Given the description of an element on the screen output the (x, y) to click on. 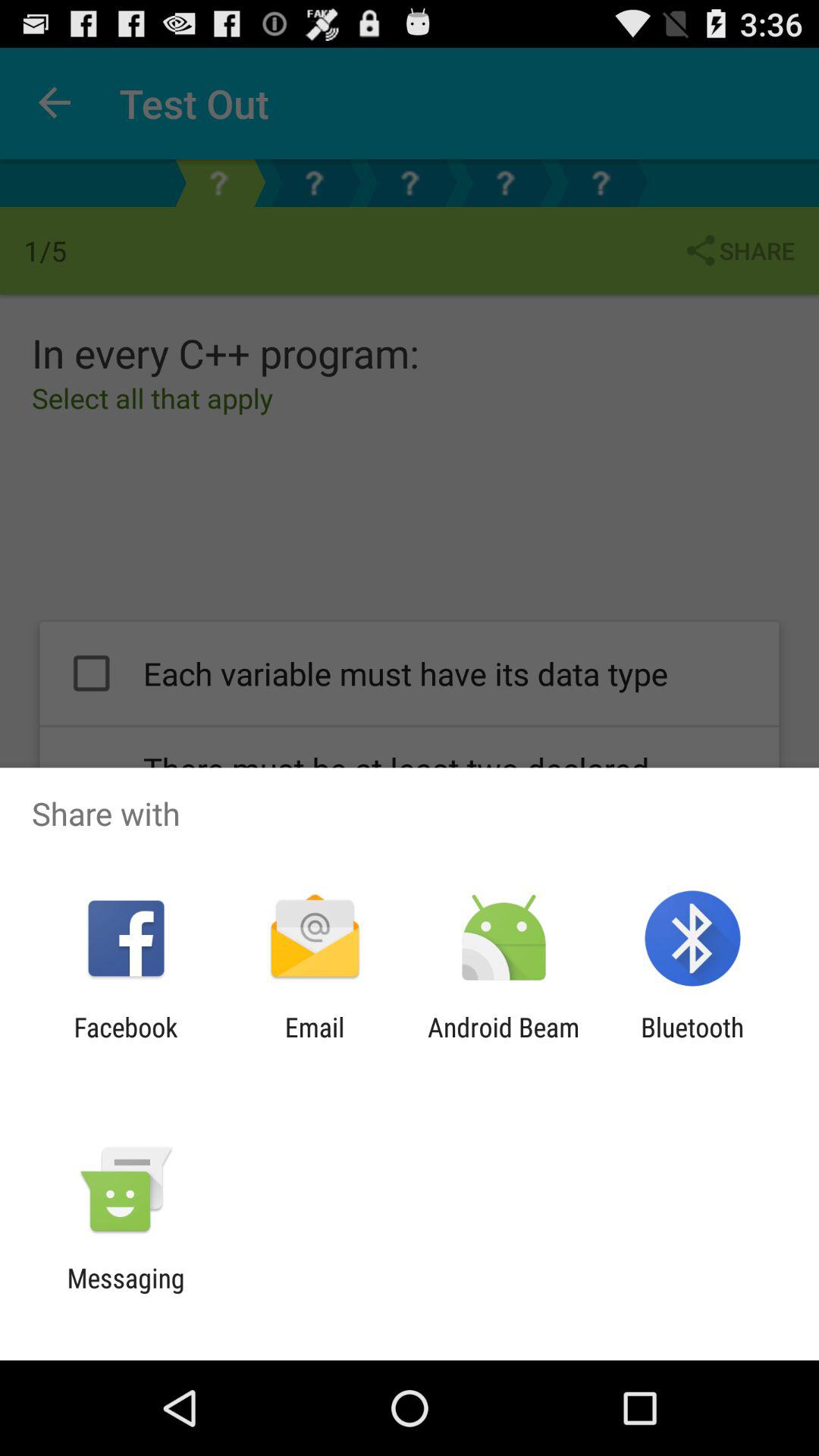
turn on android beam icon (503, 1042)
